Given the description of an element on the screen output the (x, y) to click on. 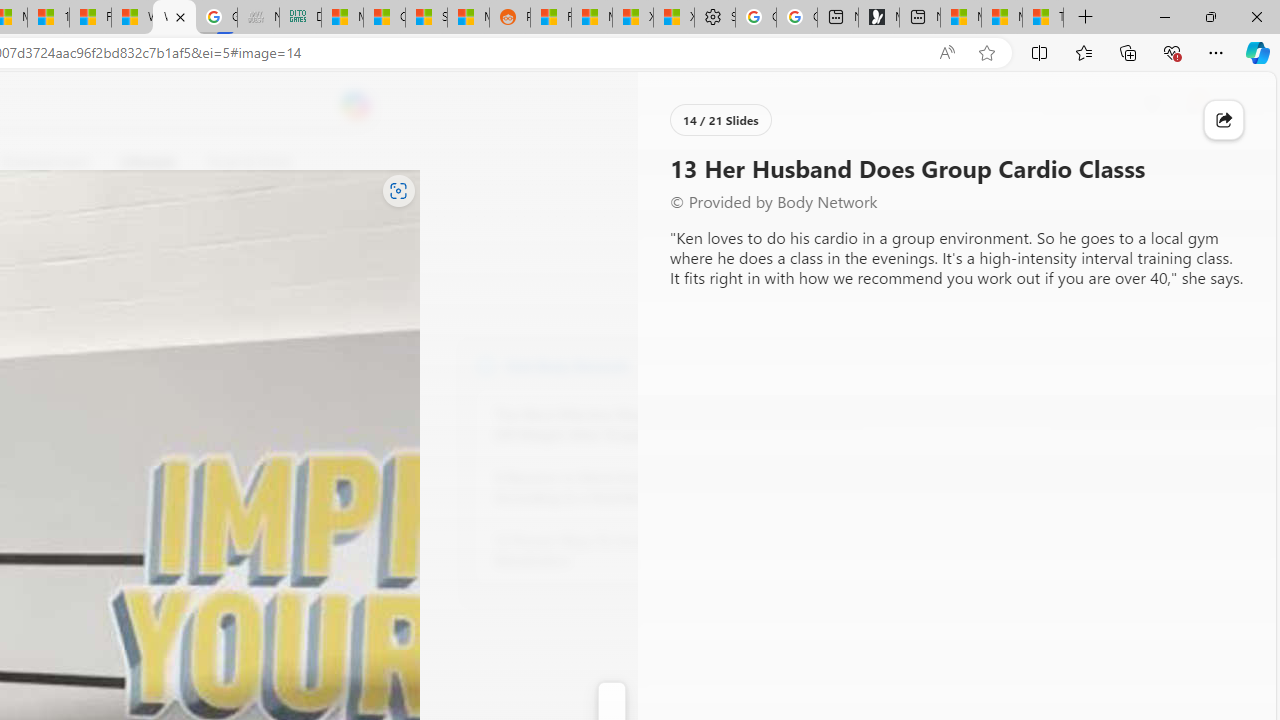
Share this story (1224, 119)
Body Network (486, 364)
